Given the description of an element on the screen output the (x, y) to click on. 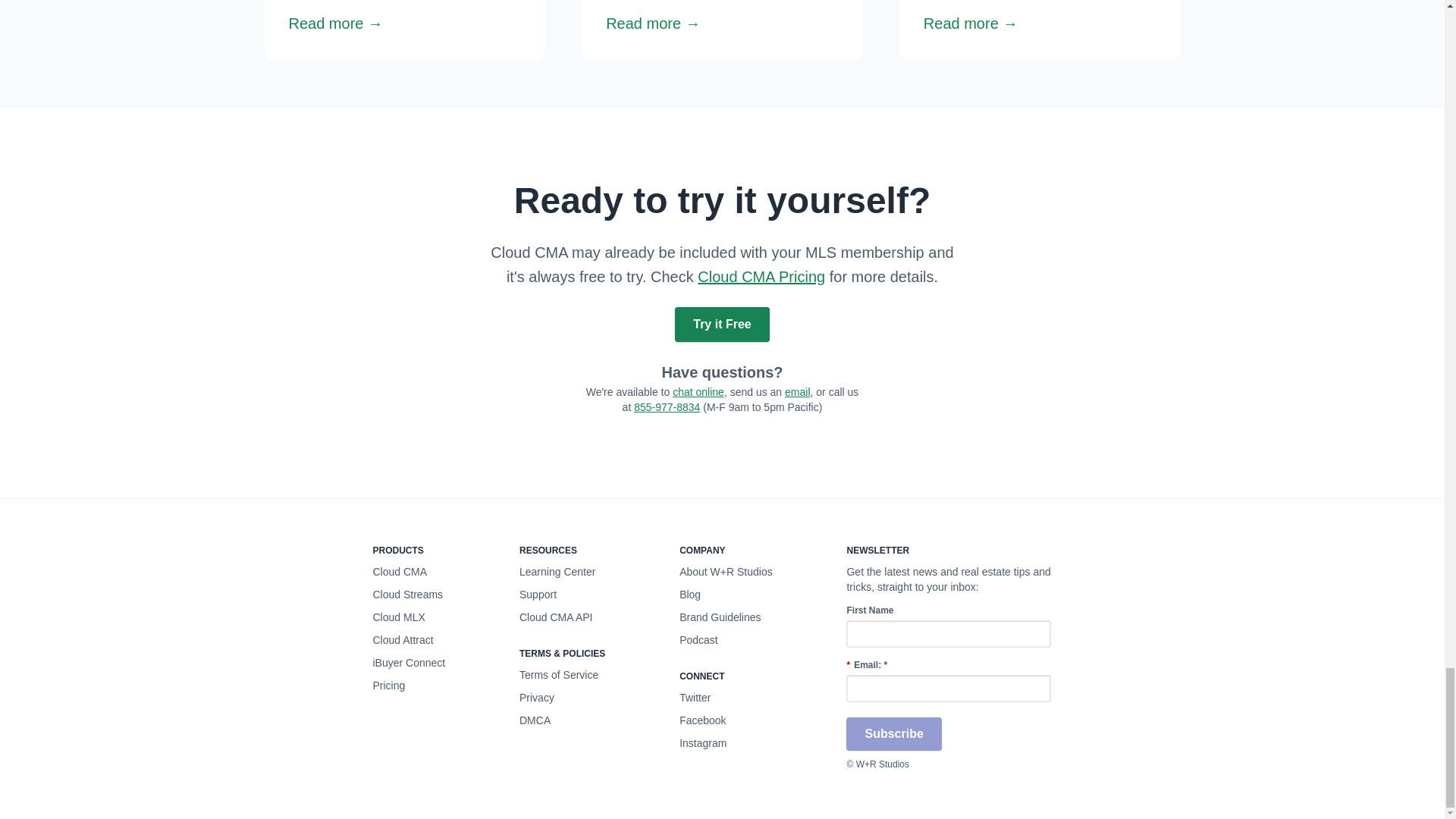
Try it Free (721, 324)
Cloud CMA Pricing (761, 276)
chat online (697, 391)
